Given the description of an element on the screen output the (x, y) to click on. 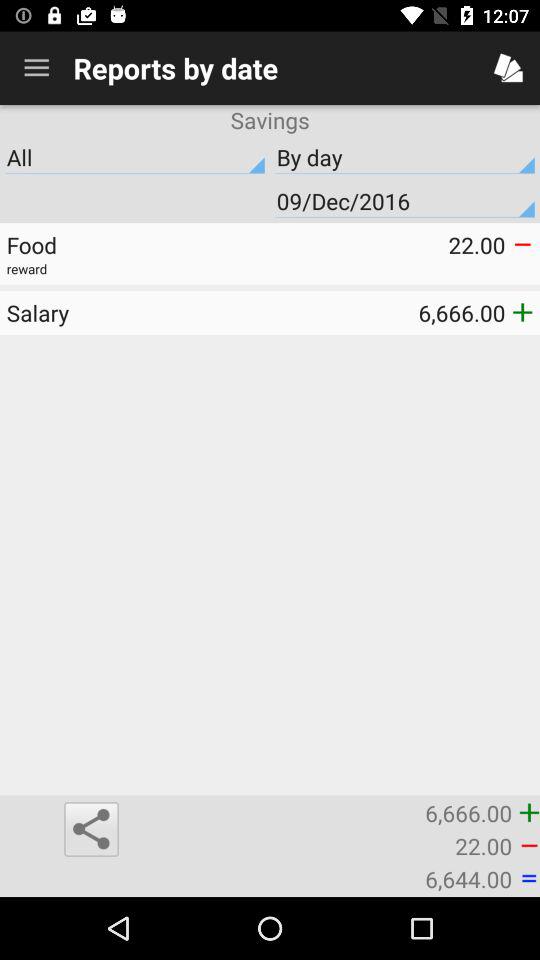
tap the all icon (135, 157)
